Given the description of an element on the screen output the (x, y) to click on. 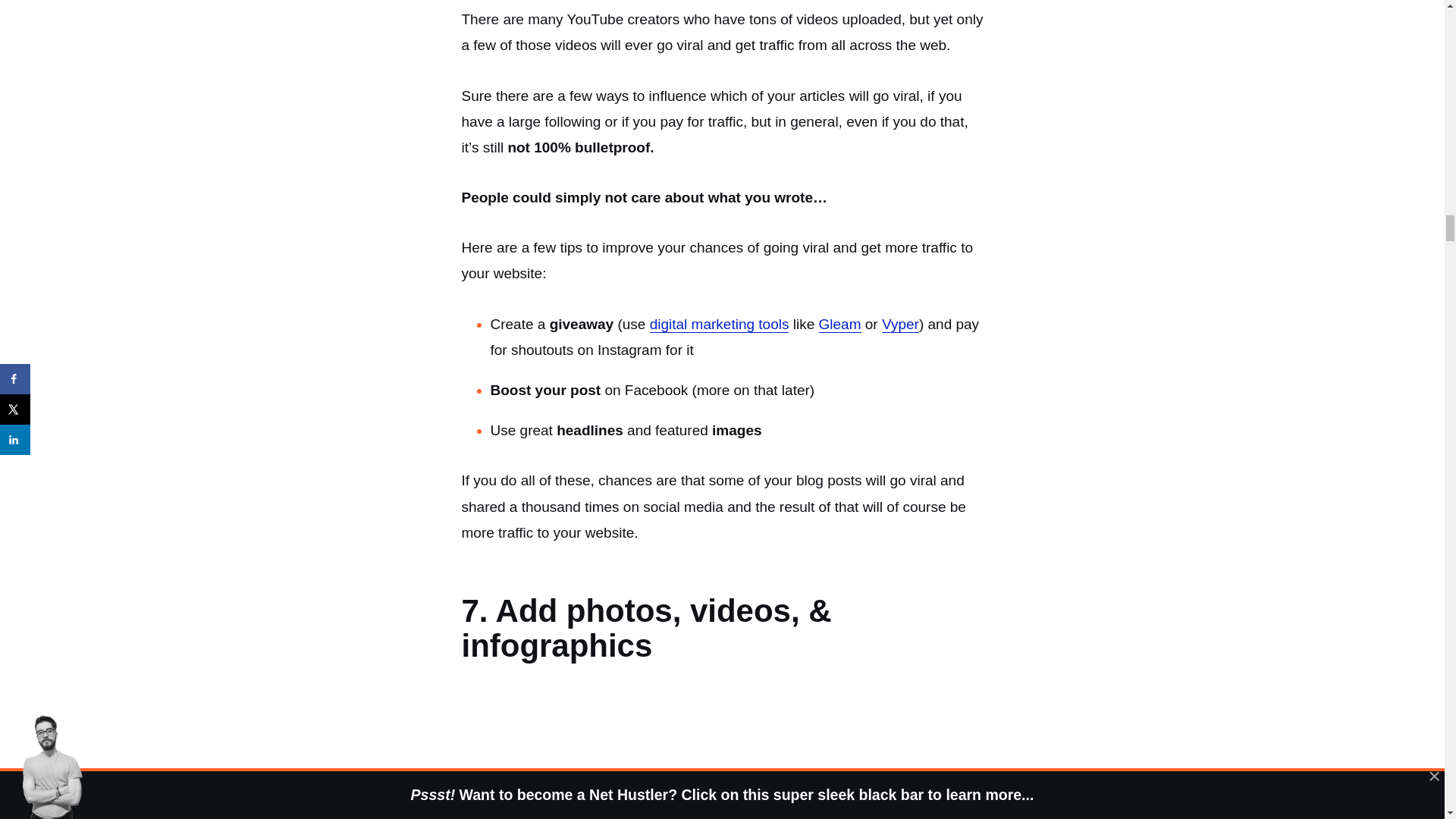
Vyper (900, 324)
digital marketing tools (719, 324)
Gleam (839, 324)
